Given the description of an element on the screen output the (x, y) to click on. 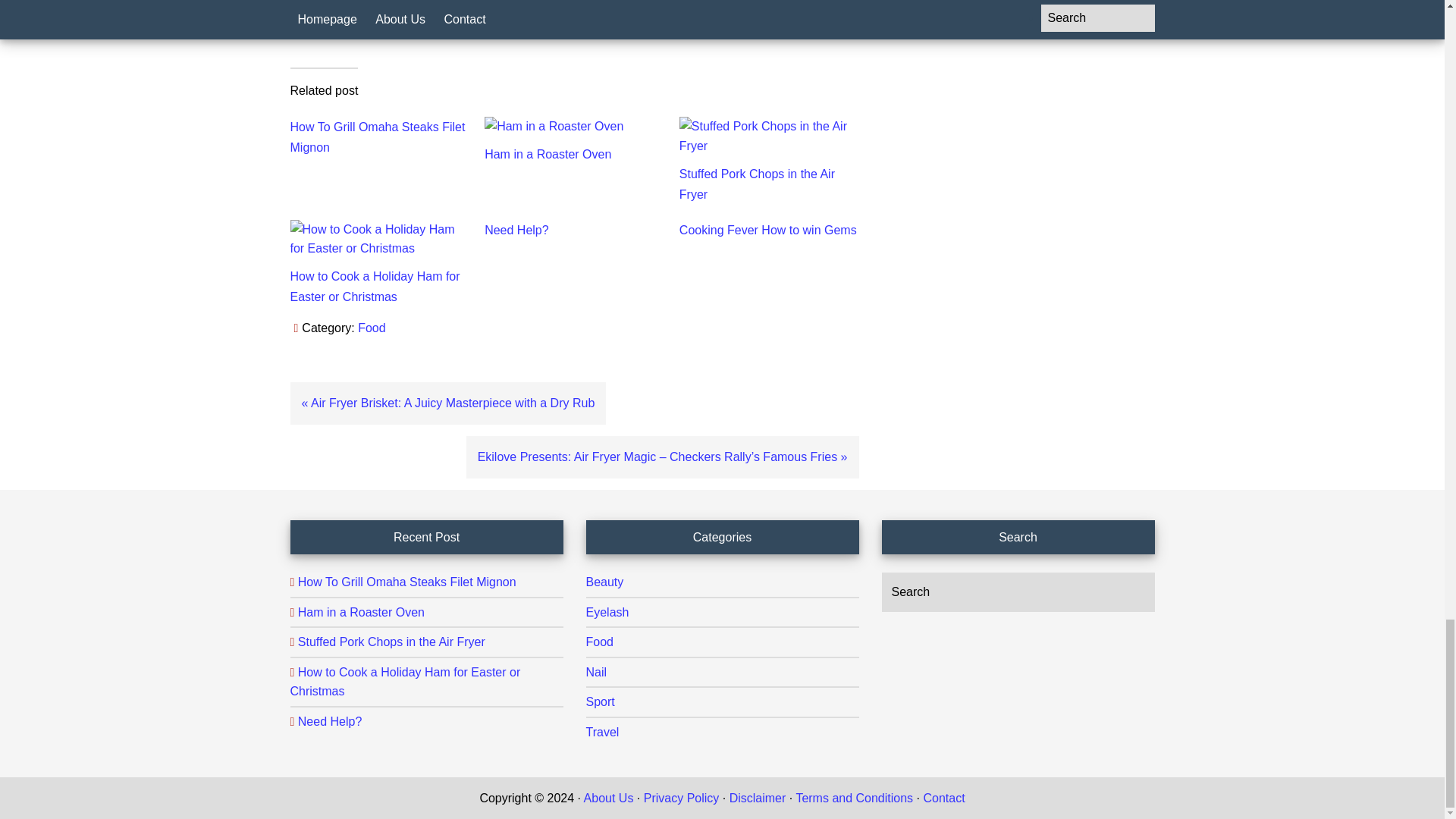
Stuffed Pork Chops in the Air Fryer (756, 183)
Food (371, 327)
Cooking Fever How to win Gems (768, 229)
How To Grill Omaha Steaks Filet Mignon (376, 136)
How to Cook a Holiday Ham for Easter or Christmas (374, 286)
READ MORE  Chitterlings (574, 4)
Need Help? (516, 229)
Ham in a Roaster Oven (547, 154)
